Given the description of an element on the screen output the (x, y) to click on. 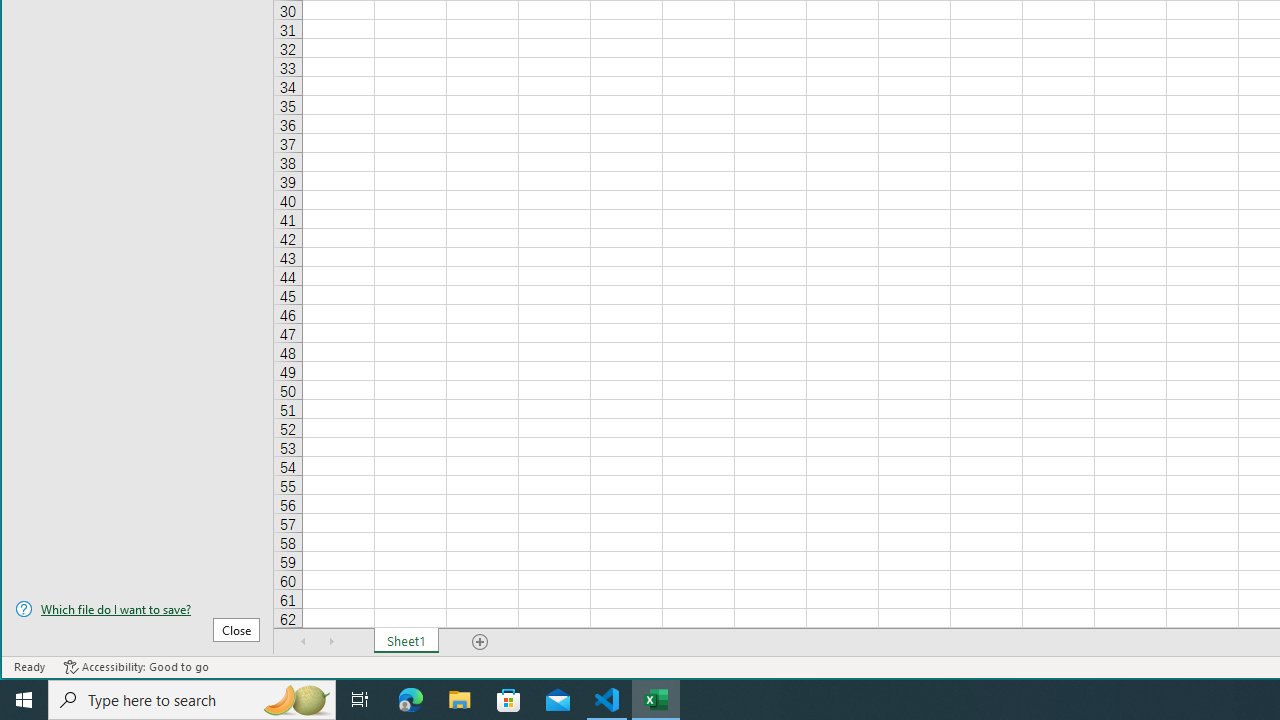
Add Sheet (481, 641)
Close (235, 629)
Accessibility Checker Accessibility: Good to go (136, 667)
Scroll Left (303, 641)
Start (24, 699)
Search highlights icon opens search home window (295, 699)
Scroll Right (331, 641)
Which file do I want to save? (137, 609)
Sheet1 (406, 641)
Task View (359, 699)
Excel - 1 running window (656, 699)
Type here to search (191, 699)
File Explorer (460, 699)
Microsoft Store (509, 699)
